Given the description of an element on the screen output the (x, y) to click on. 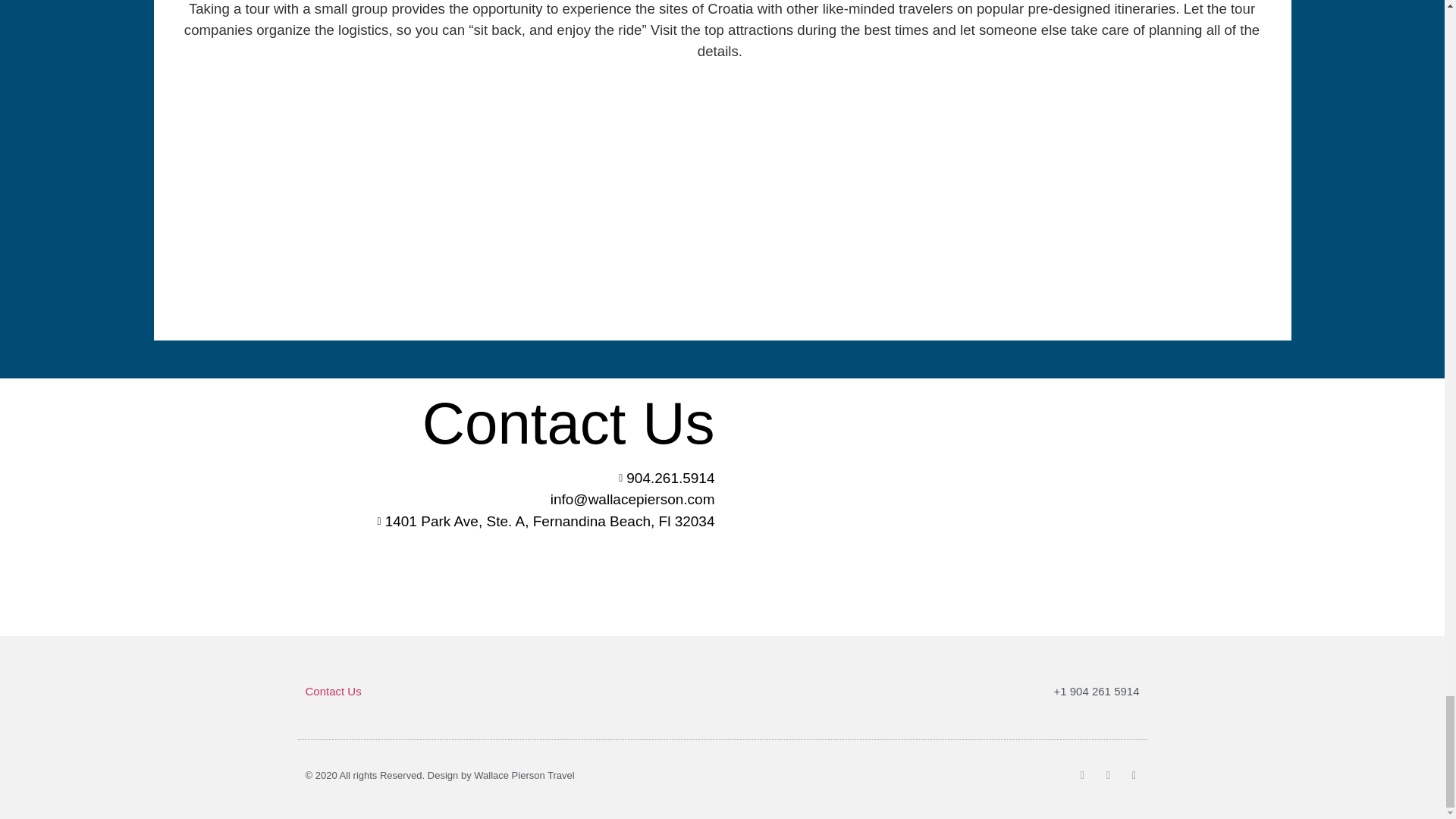
1401 Park Ave, Suite , Fernandina, FL 32034 (933, 506)
